Given the description of an element on the screen output the (x, y) to click on. 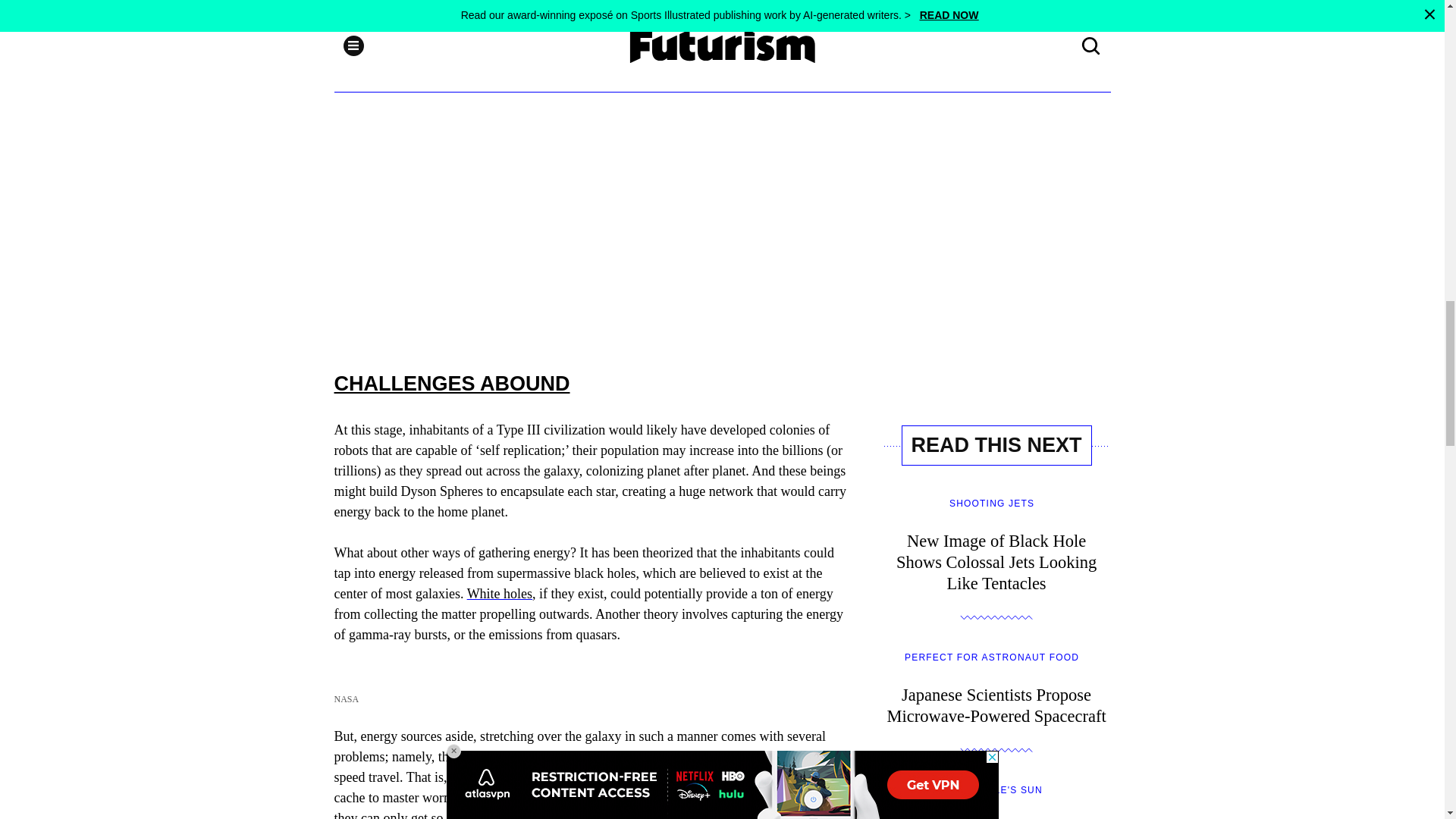
a working warp drive (620, 776)
Japanese Scientists Propose Microwave-Powered Spacecraft (996, 701)
White holes (499, 593)
cybernetic organism (534, 2)
Sci-Fi Becomes Sci-fact; The Real Star Trek: (620, 776)
3rd party ad content (592, 217)
